Given the description of an element on the screen output the (x, y) to click on. 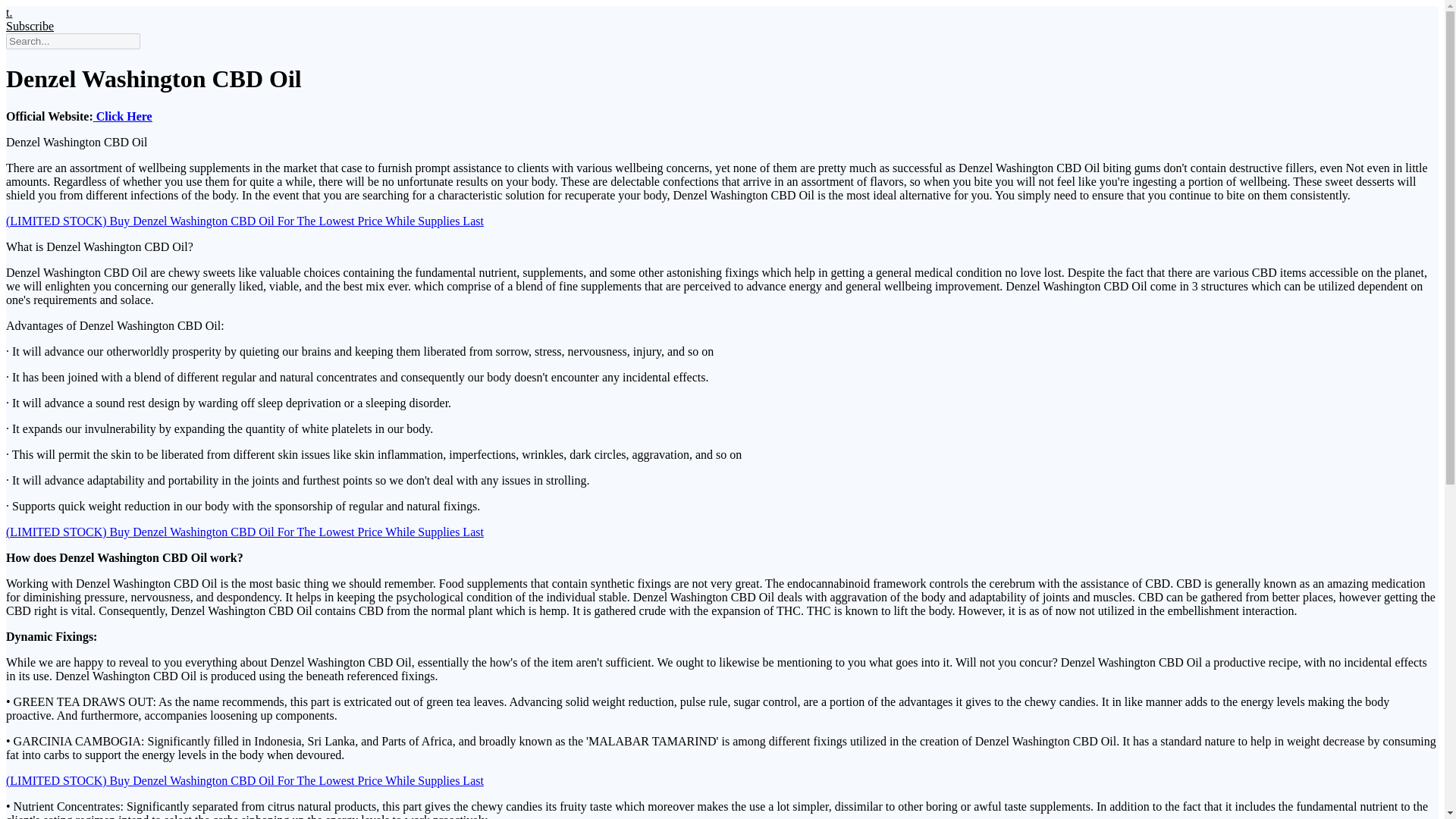
Subscribe (29, 25)
t. (8, 11)
Click Here (124, 115)
